Given the description of an element on the screen output the (x, y) to click on. 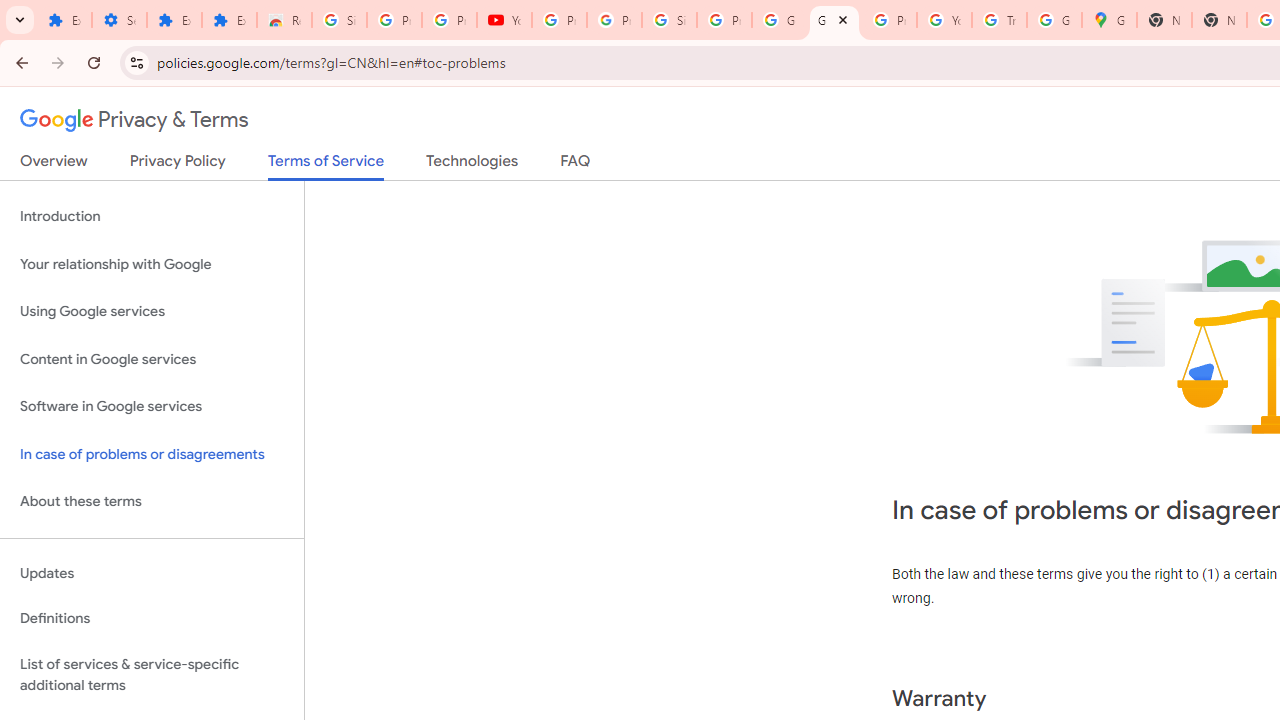
YouTube (943, 20)
Your relationship with Google (152, 263)
Google Account (779, 20)
New Tab (1218, 20)
